Given the description of an element on the screen output the (x, y) to click on. 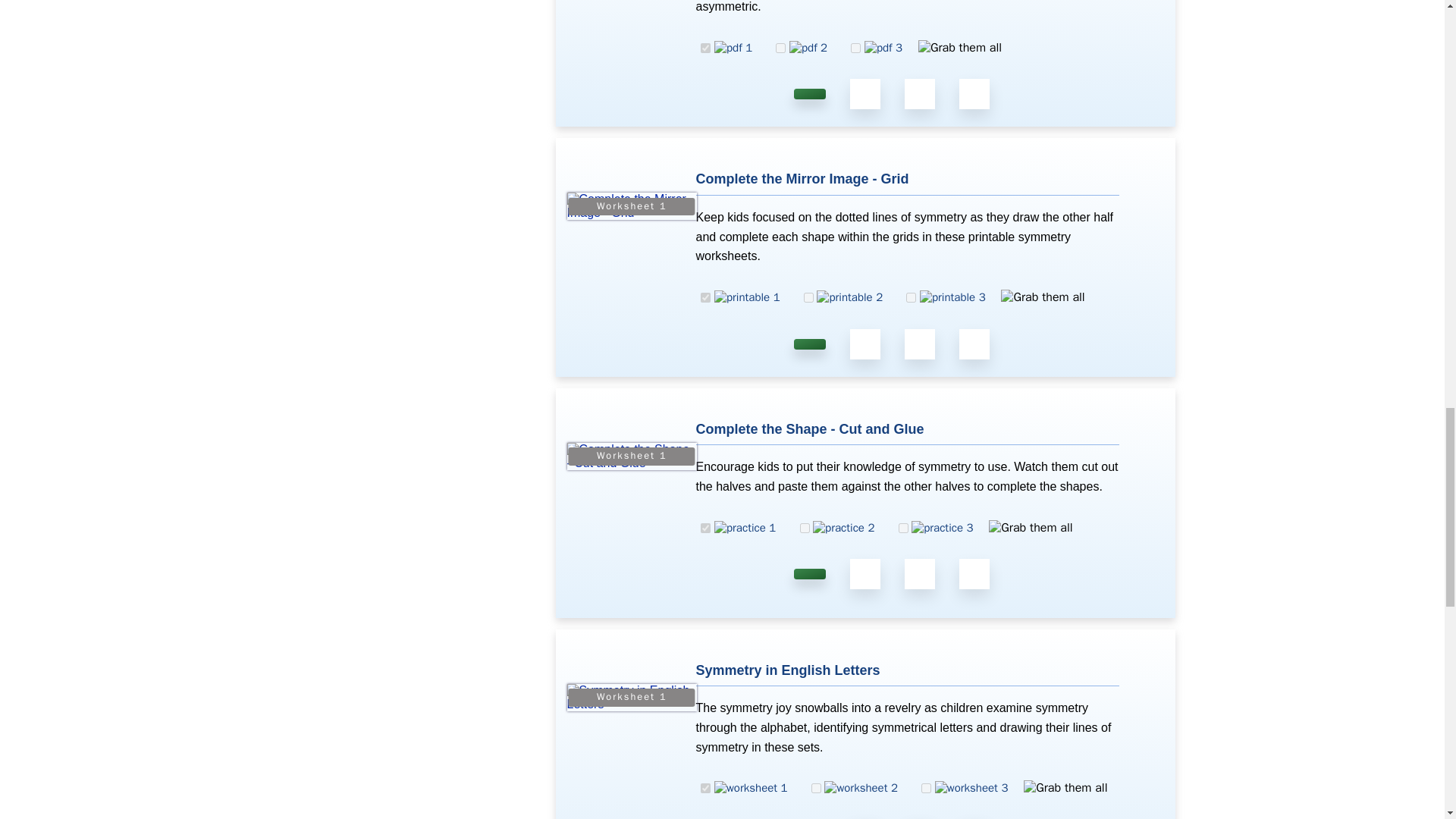
on (705, 48)
on (781, 48)
on (705, 297)
on (855, 48)
